Given the description of an element on the screen output the (x, y) to click on. 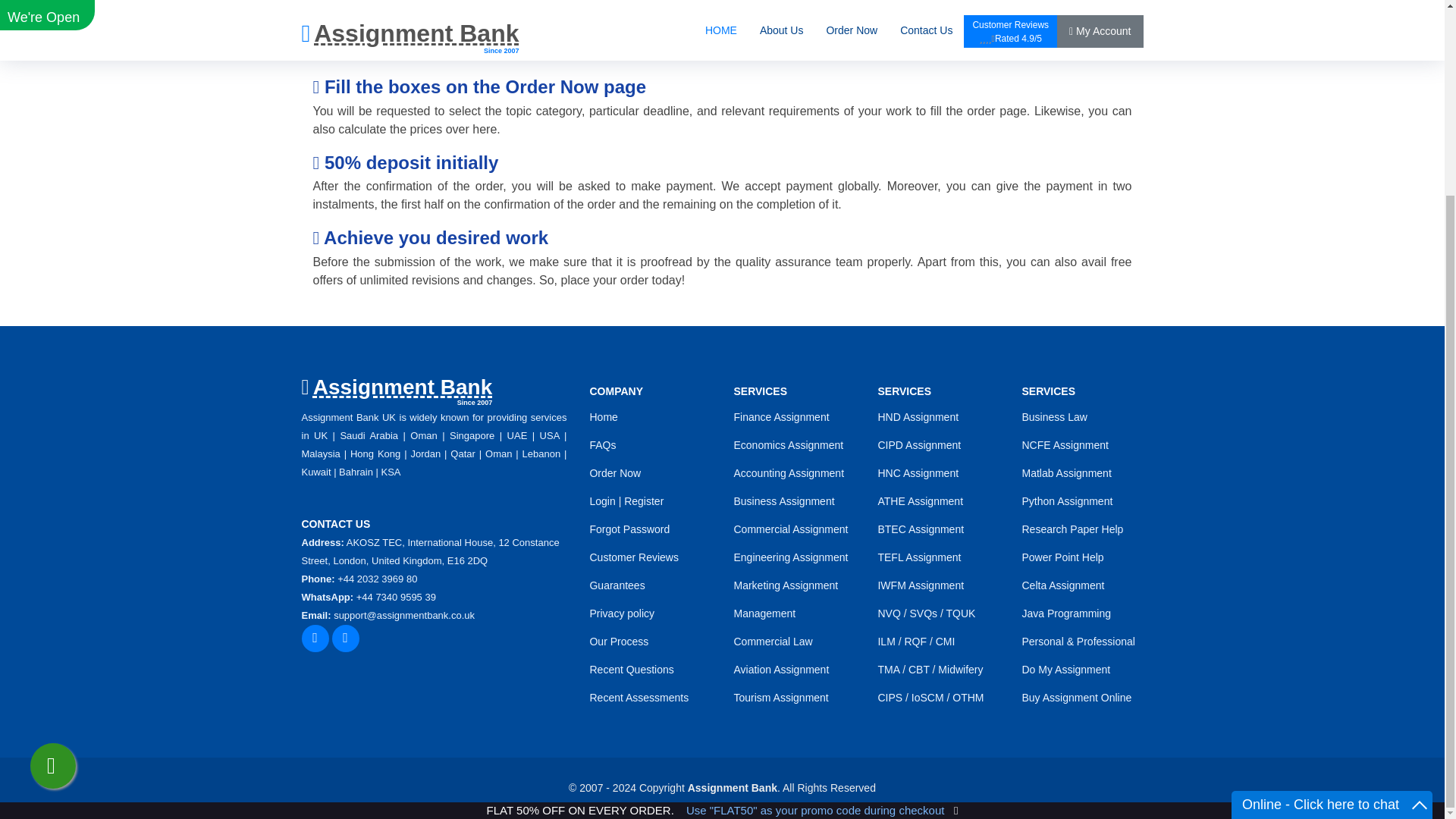
FAQs (602, 444)
Tourism Assignment (780, 697)
BTEC Assignment (920, 529)
TEFL Assignment (918, 557)
Engineering Assignment (790, 557)
ATHE Assignment (919, 500)
Recent Questions (630, 669)
Accounting Assignment (788, 472)
Marketing Assignment (785, 585)
Recent Assessments (638, 697)
Forgot Password (629, 529)
Commercial Assignment (790, 529)
Register (643, 500)
Maximize (1419, 557)
CIPD Assignment (918, 444)
